Given the description of an element on the screen output the (x, y) to click on. 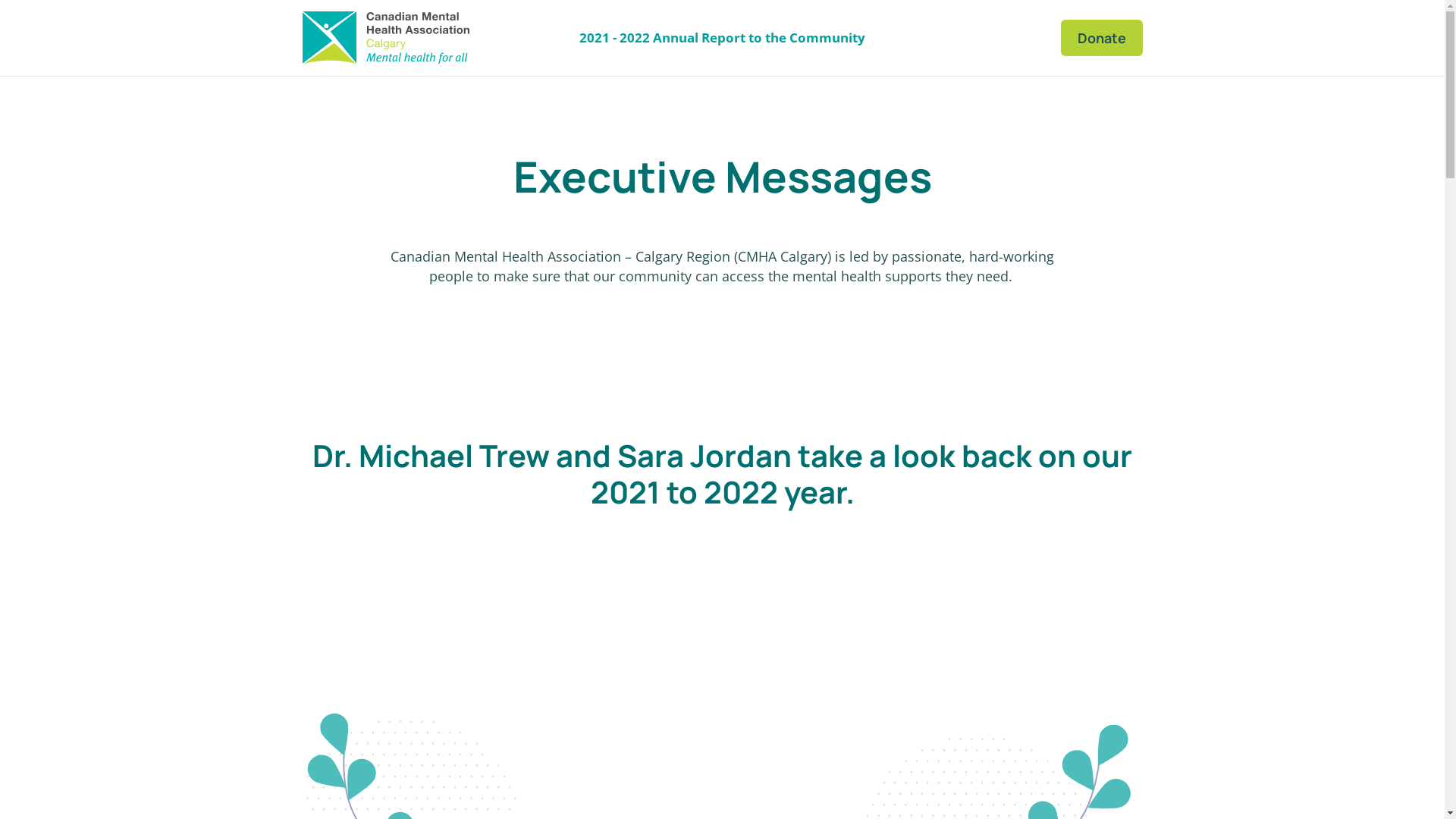
Donate Element type: text (1101, 37)
2021 - 2022 Annual Report to the Community Element type: text (722, 37)
